Given the description of an element on the screen output the (x, y) to click on. 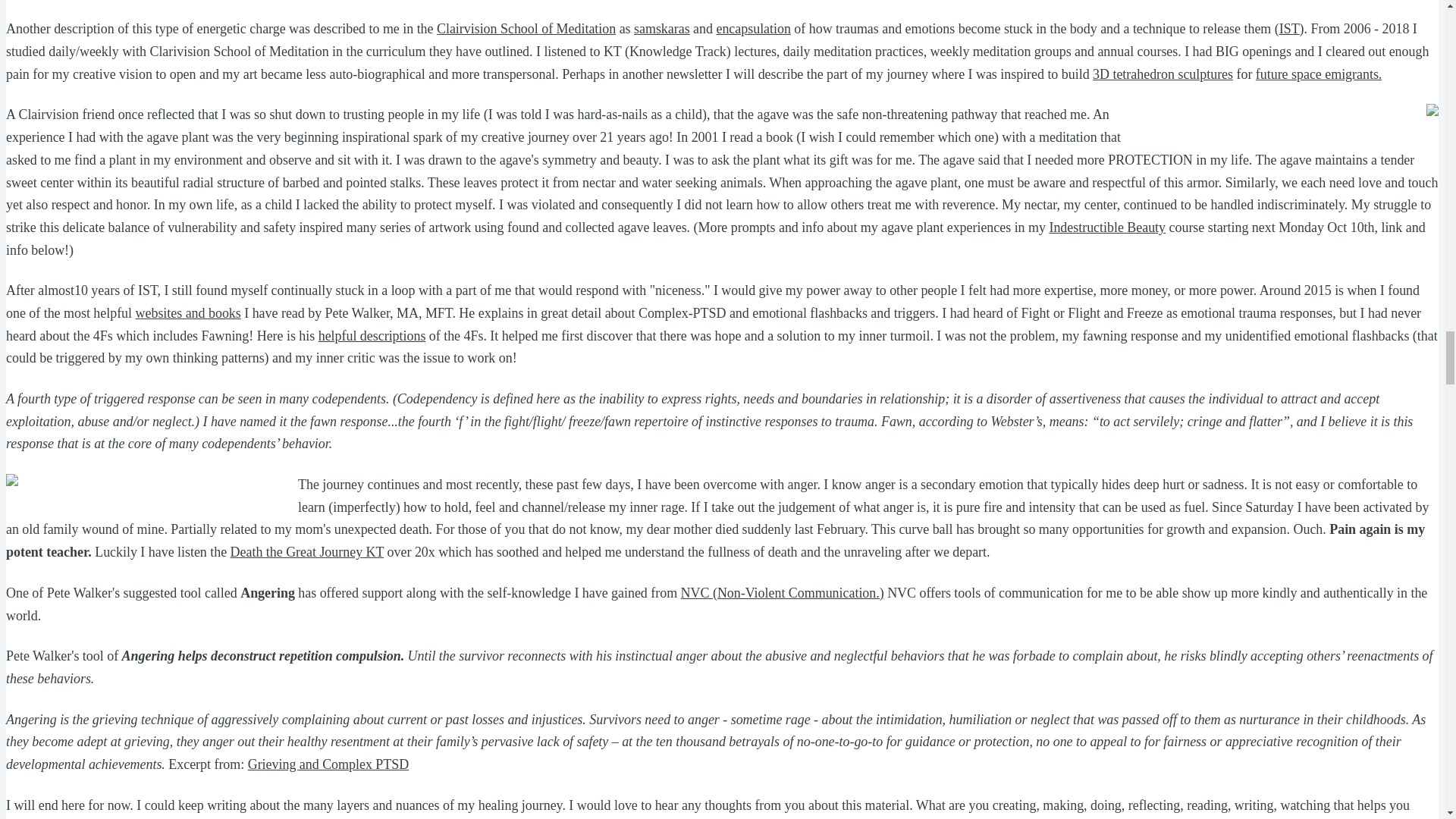
helpful descriptions (372, 335)
Clairvision School of Meditation (525, 28)
3D tetrahedron sculptures (1163, 73)
samskaras (661, 28)
Indestructible Beauty (1107, 227)
future space emigrants. (1318, 73)
Death the Great Journey KT (307, 551)
websites and books (188, 313)
IST (1289, 28)
encapsulation (753, 28)
